Given the description of an element on the screen output the (x, y) to click on. 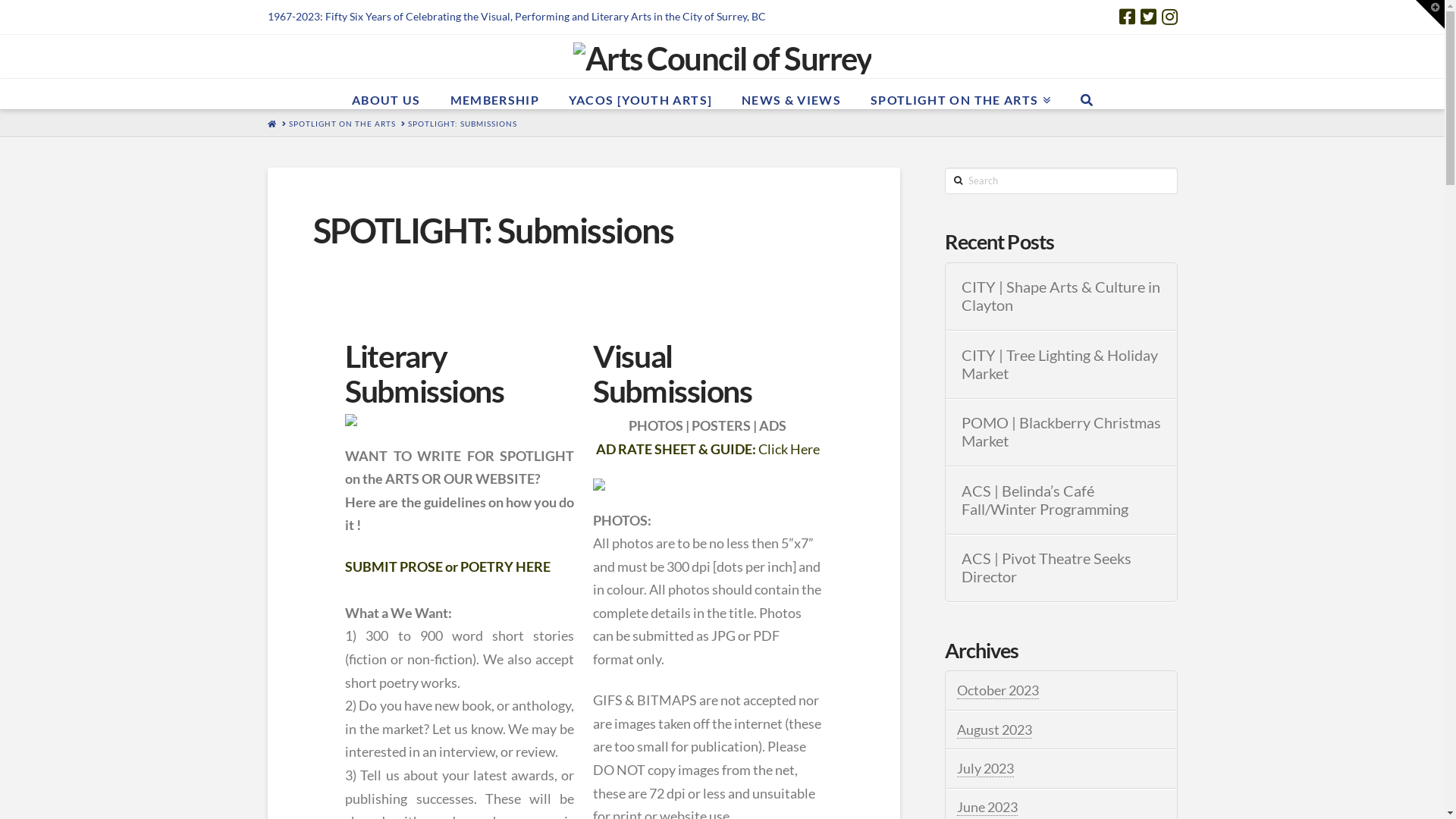
YACOS [YOUTH ARTS] Element type: text (639, 93)
Toggle the Widgetbar Element type: text (1429, 14)
SUBMIT PROSE or POETRY HERE Element type: text (447, 566)
SPOTLIGHT ON THE ARTS Element type: text (960, 93)
SPOTLIGHT: SUBMISSIONS Element type: text (462, 123)
ACS | Pivot Theatre Seeks Director Element type: text (1061, 567)
Instagram Element type: hover (1169, 16)
ABOUT US Element type: text (385, 93)
CITY | Shape Arts & Culture in Clayton Element type: text (1061, 296)
October 2023 Element type: text (997, 690)
August 2023 Element type: text (994, 729)
July 2023 Element type: text (985, 768)
June 2023 Element type: text (987, 806)
POMO | Blackberry Christmas Market Element type: text (1061, 432)
Facebook Element type: hover (1127, 16)
HOME Element type: text (271, 123)
NEWS & VIEWS Element type: text (790, 93)
SPOTLIGHT ON THE ARTS Element type: text (341, 123)
MEMBERSHIP Element type: text (494, 93)
AD RATE SHEET & GUIDE: Click Here Element type: text (707, 448)
CITY | Tree Lighting & Holiday Market Element type: text (1061, 364)
Twitter Element type: hover (1148, 16)
